Given the description of an element on the screen output the (x, y) to click on. 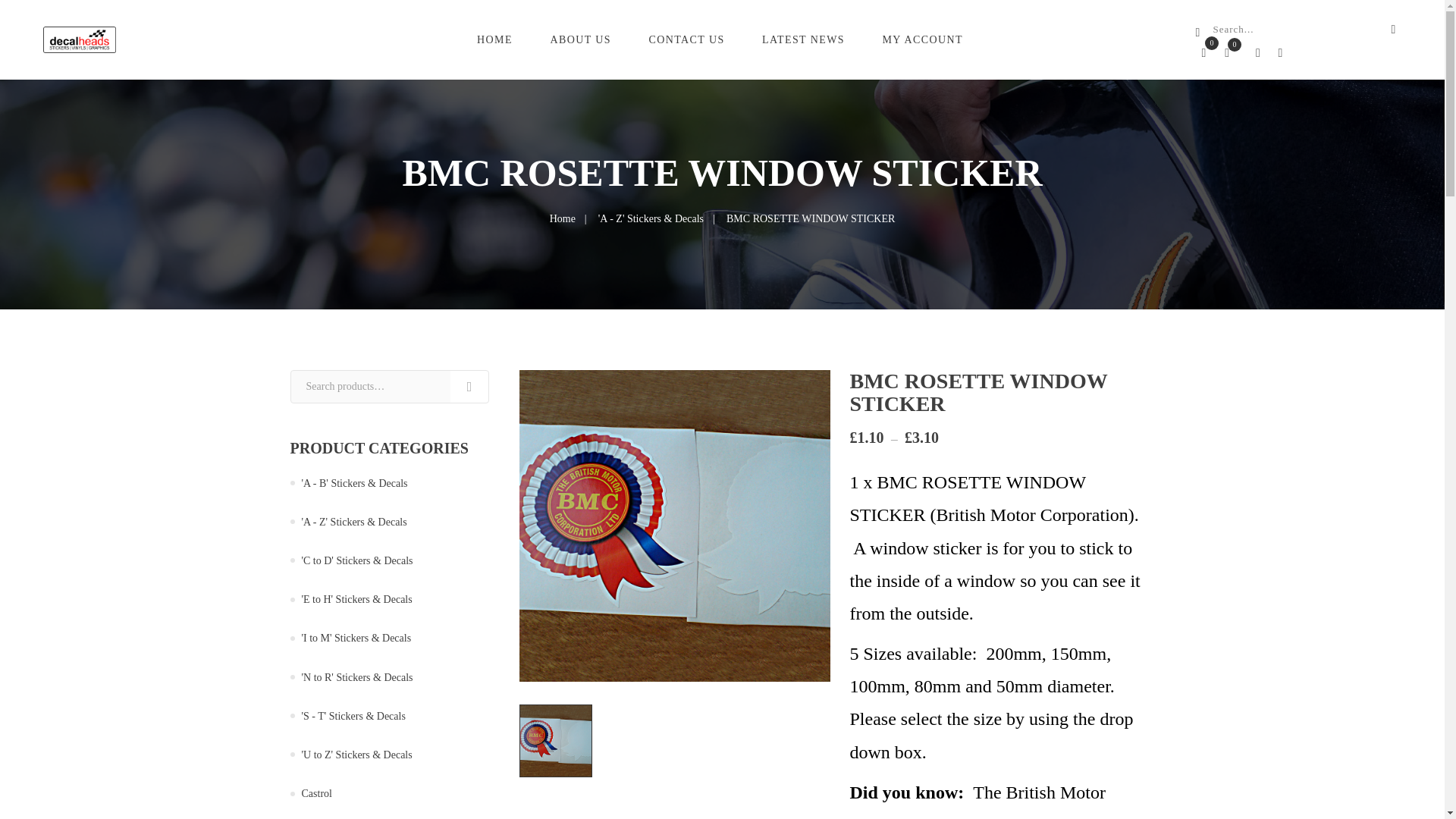
LATEST NEWS (805, 40)
Wishlist (1203, 52)
HOME (496, 40)
ABOUT US (582, 40)
BMC Rosette Window Sticker (555, 740)
0 (1203, 52)
Home (562, 218)
CONTACT US (688, 40)
MY ACCOUNT (923, 40)
